Given the description of an element on the screen output the (x, y) to click on. 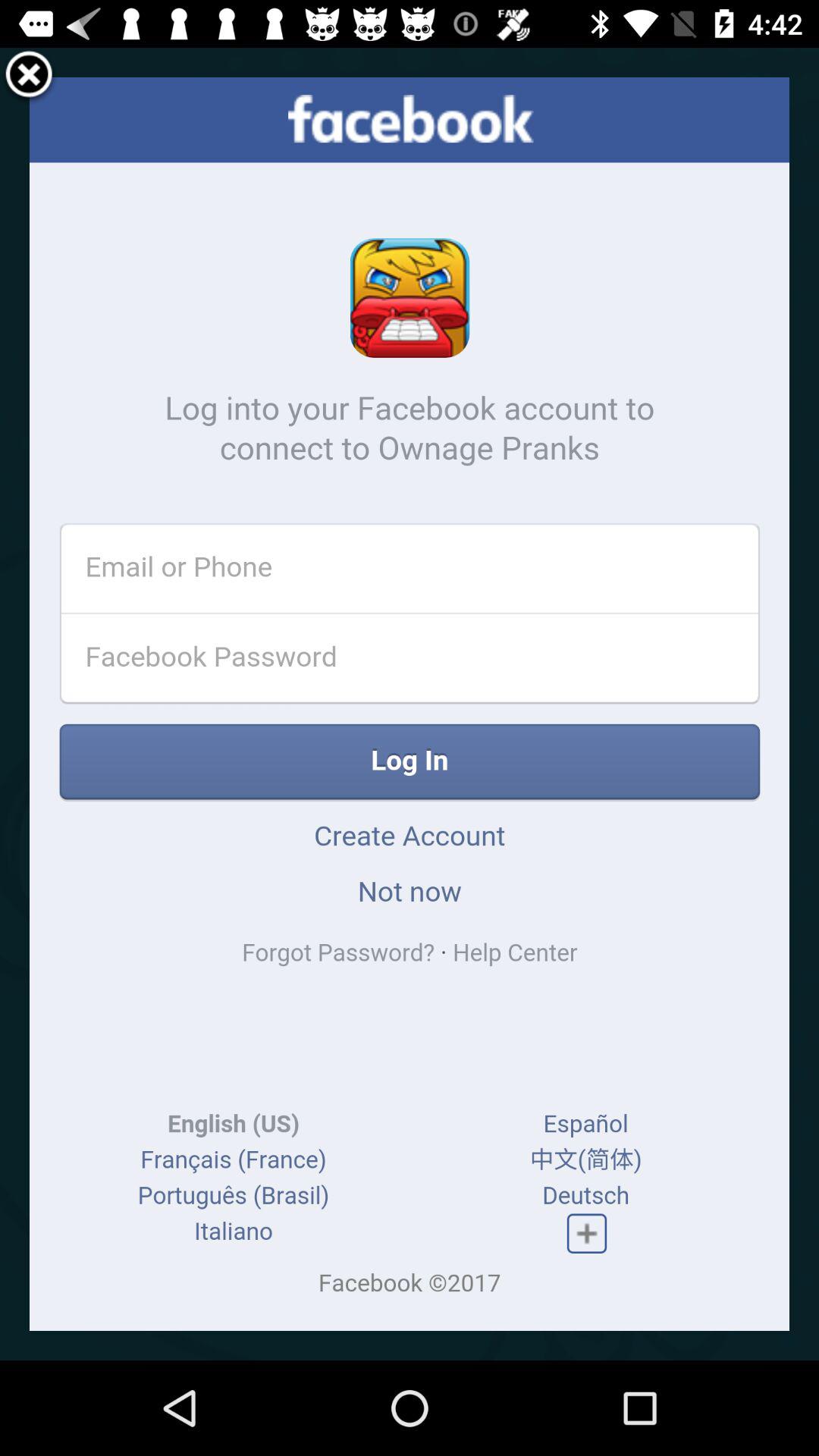
tap item at the center (409, 703)
